Given the description of an element on the screen output the (x, y) to click on. 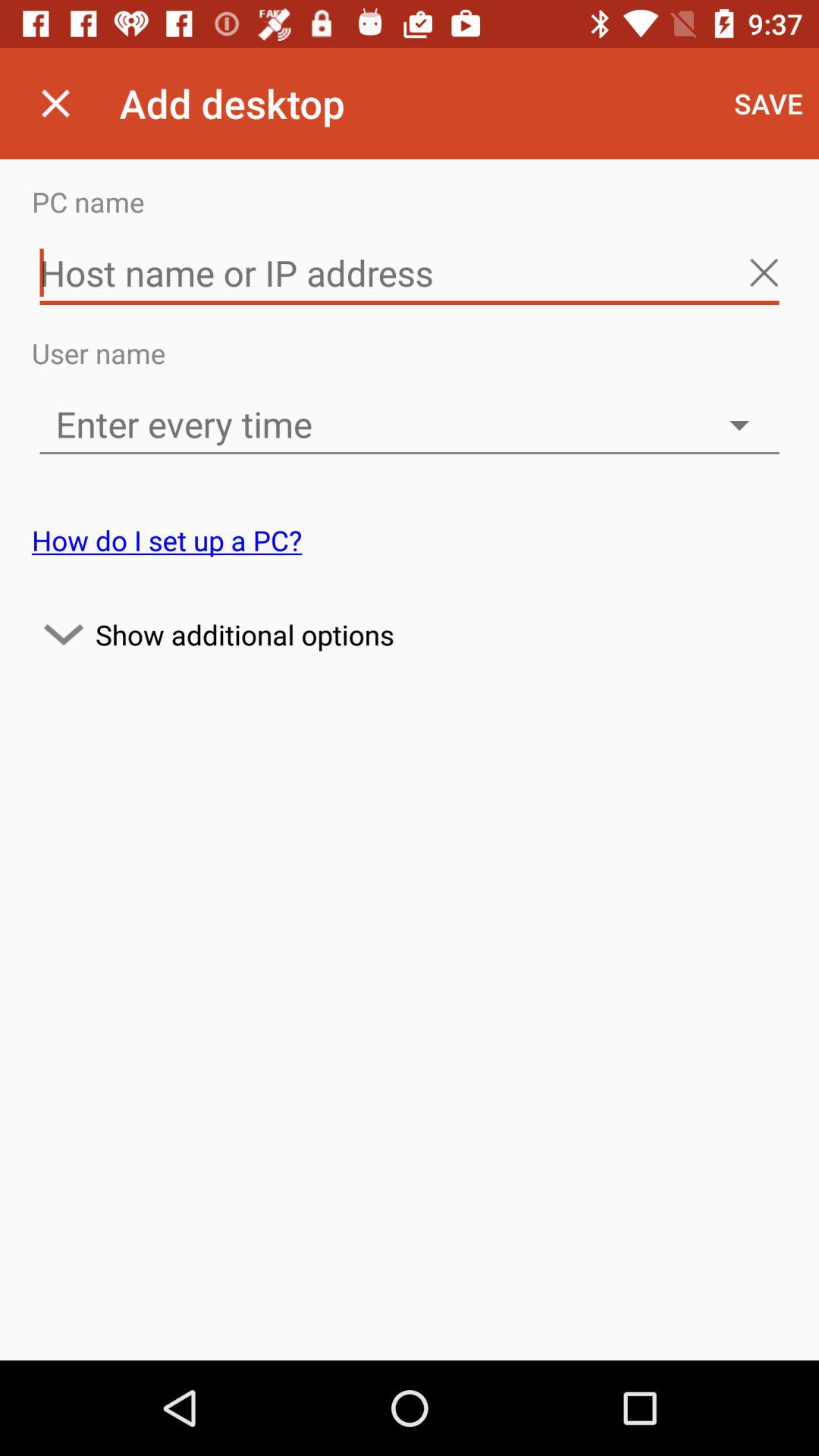
turn off the icon above the pc name (55, 103)
